Given the description of an element on the screen output the (x, y) to click on. 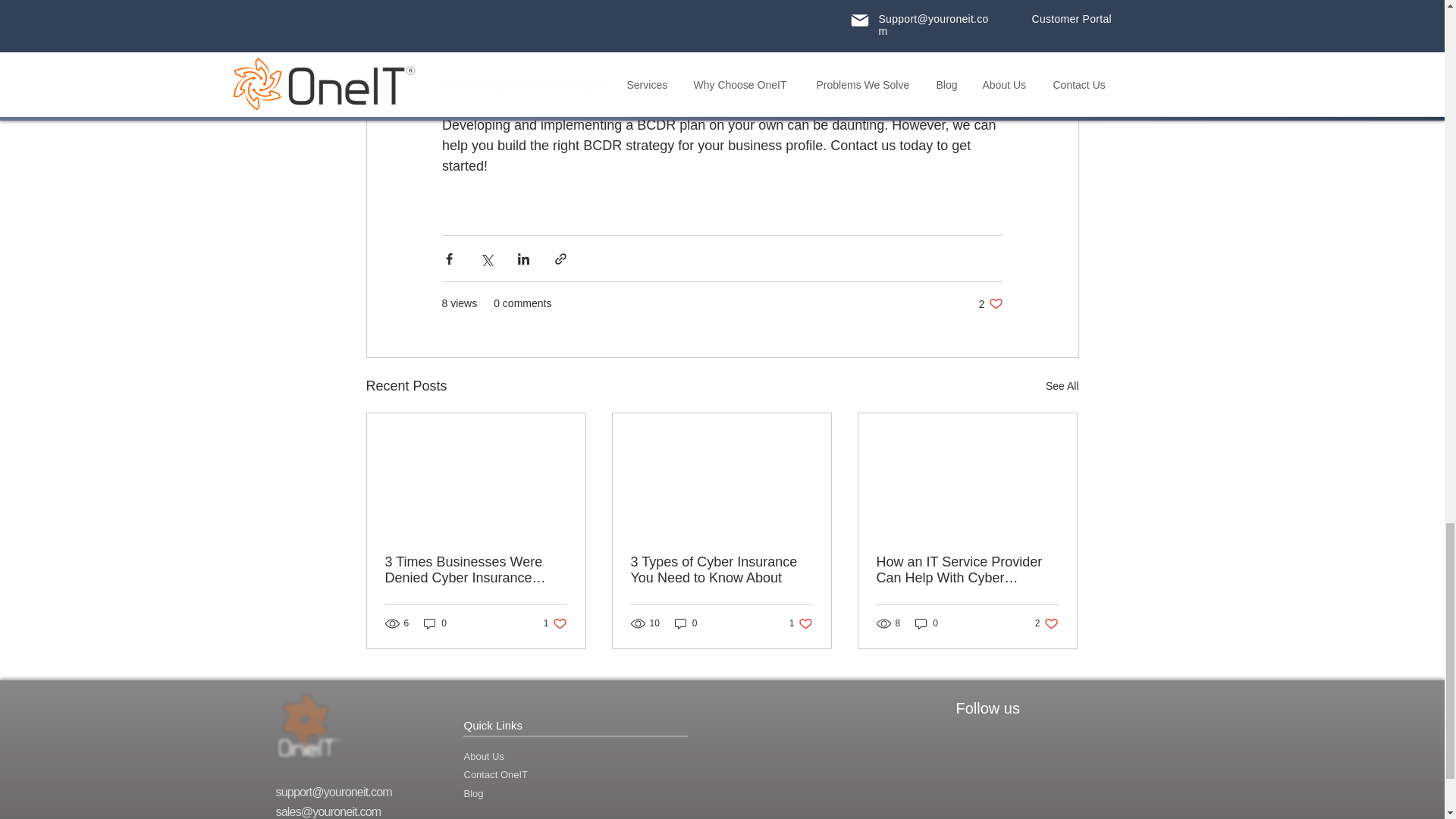
About Us (800, 622)
3 Types of Cyber Insurance You Need to Know About (483, 756)
How an IT Service Provider Can Help With Cyber Insurance (555, 622)
See All (721, 570)
Contact OneIT (967, 570)
0 (1061, 386)
0 (496, 774)
3 Times Businesses Were Denied Cyber Insurance Payouts (926, 622)
Quick Links (1046, 622)
0 (685, 622)
